Given the description of an element on the screen output the (x, y) to click on. 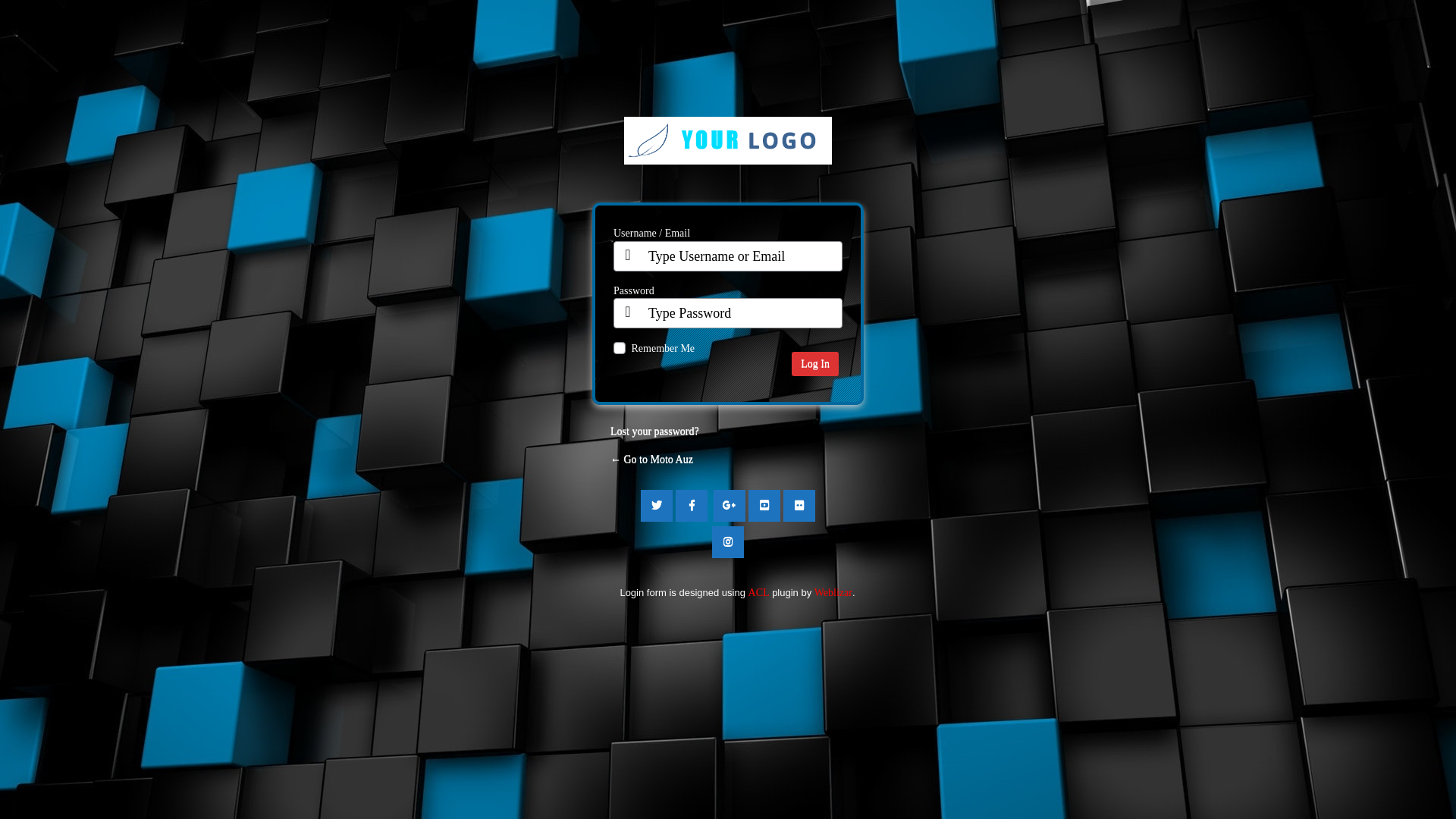
Weblizar Element type: text (833, 592)
ACL Element type: text (758, 592)
Your Site Name and Info Element type: text (727, 151)
Lost your password? Element type: text (654, 430)
Log In Element type: text (814, 363)
